Given the description of an element on the screen output the (x, y) to click on. 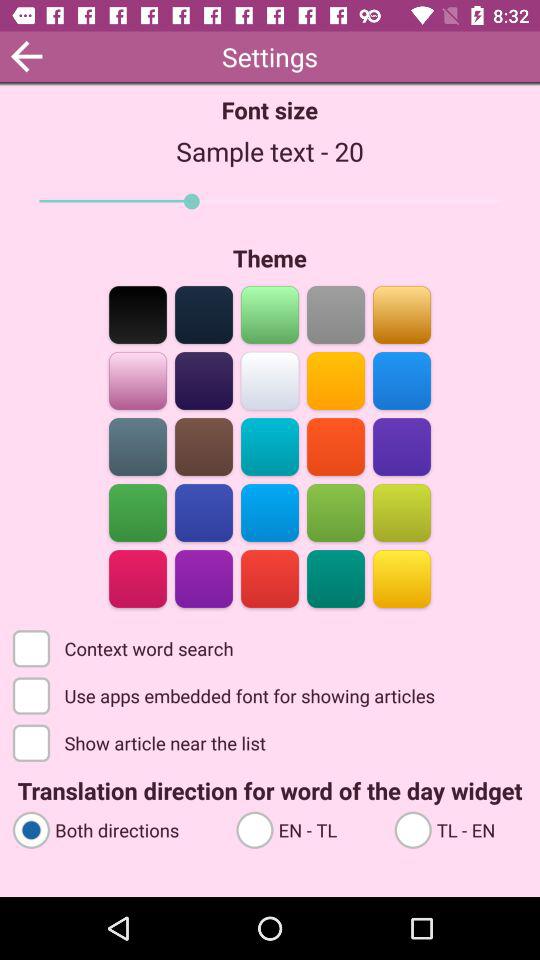
changes the theme to blue (203, 379)
